Given the description of an element on the screen output the (x, y) to click on. 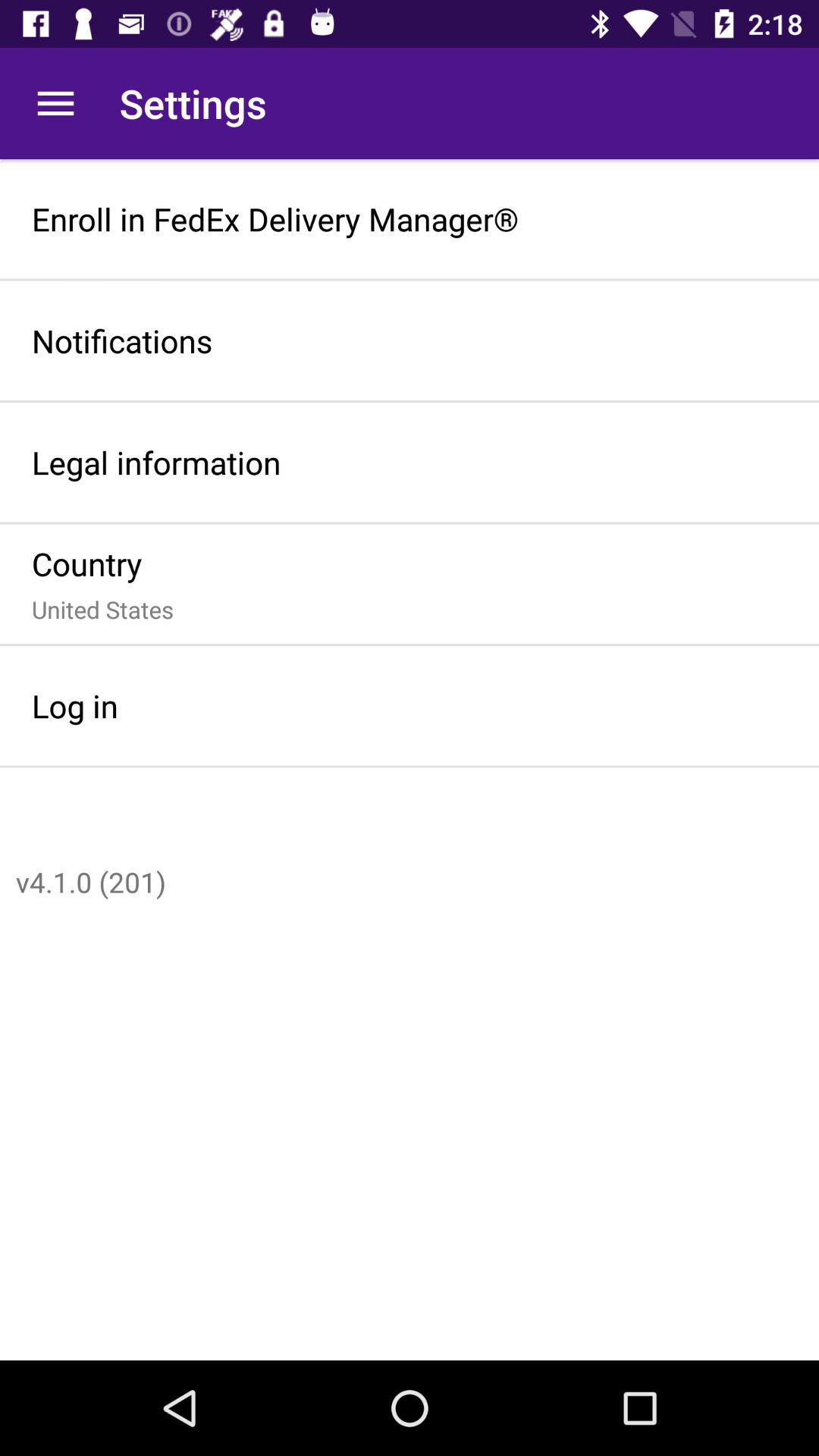
click the item to the left of settings app (55, 103)
